Given the description of an element on the screen output the (x, y) to click on. 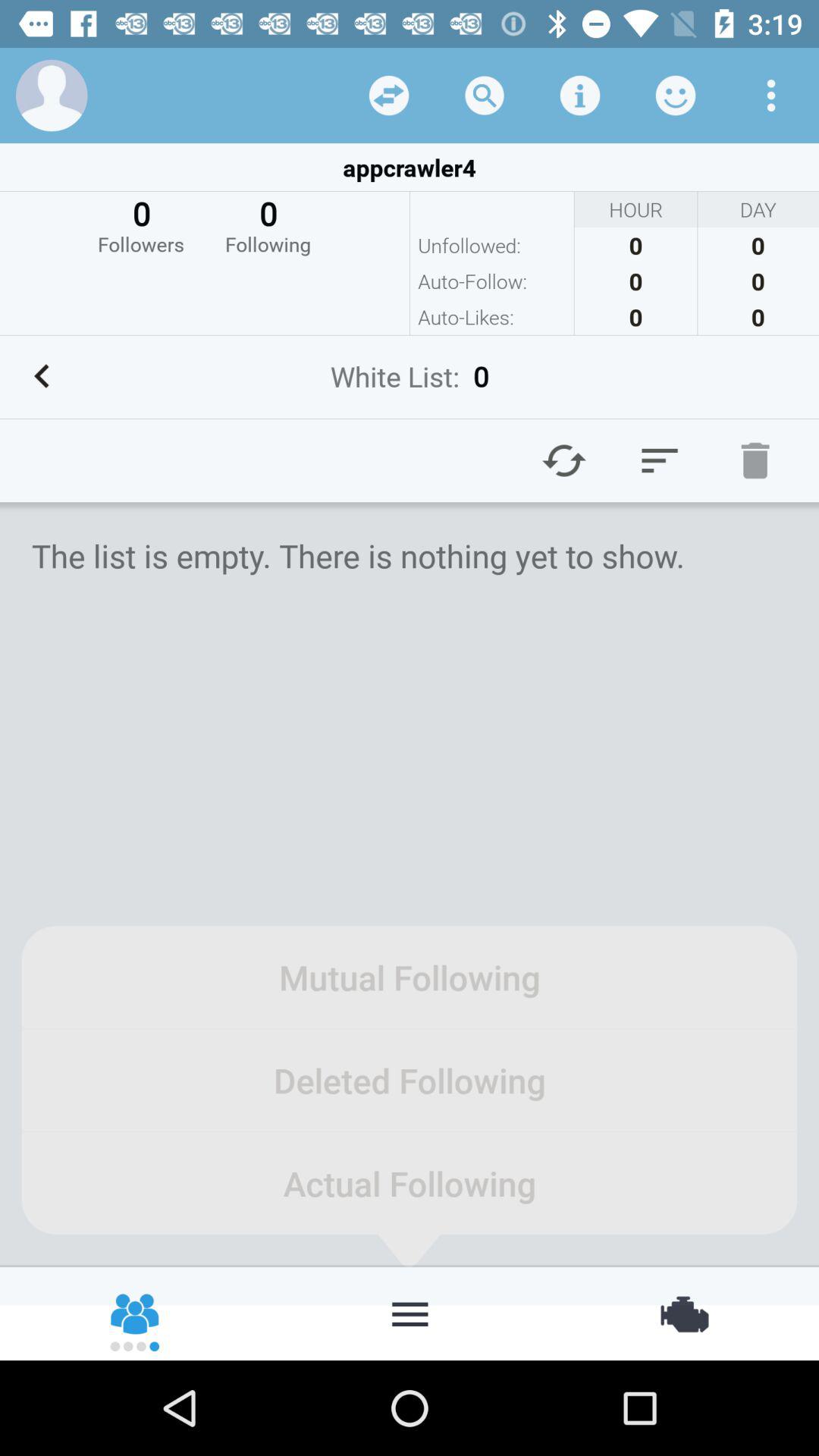
profile icon (51, 95)
